Given the description of an element on the screen output the (x, y) to click on. 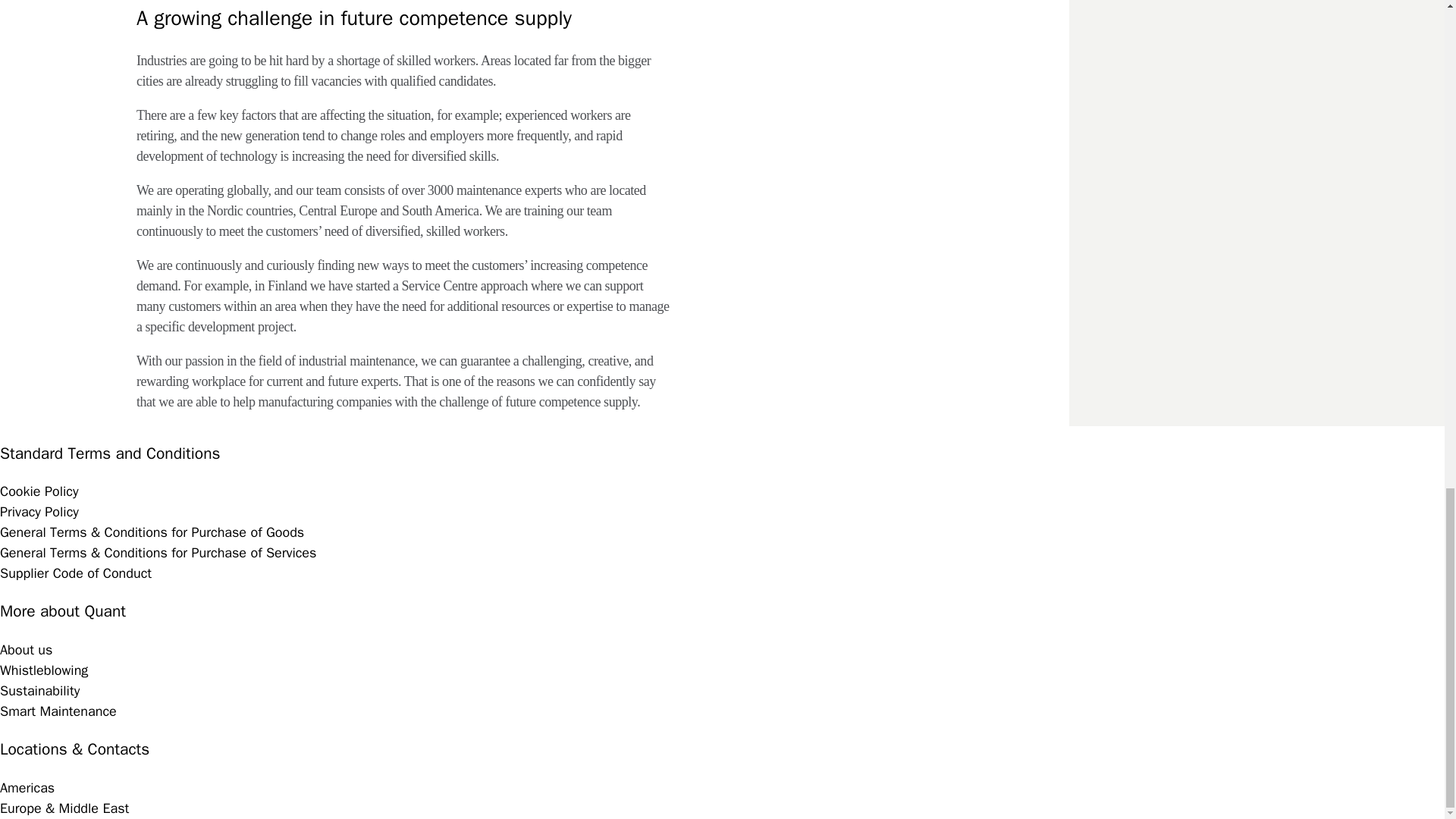
Sustainability (40, 690)
Cookie Policy (39, 491)
Smart Maintenance (58, 710)
Americas (27, 787)
Supplier Code of Conduct (75, 573)
Whistleblowing (43, 669)
Privacy Policy (39, 511)
About us (26, 649)
